Given the description of an element on the screen output the (x, y) to click on. 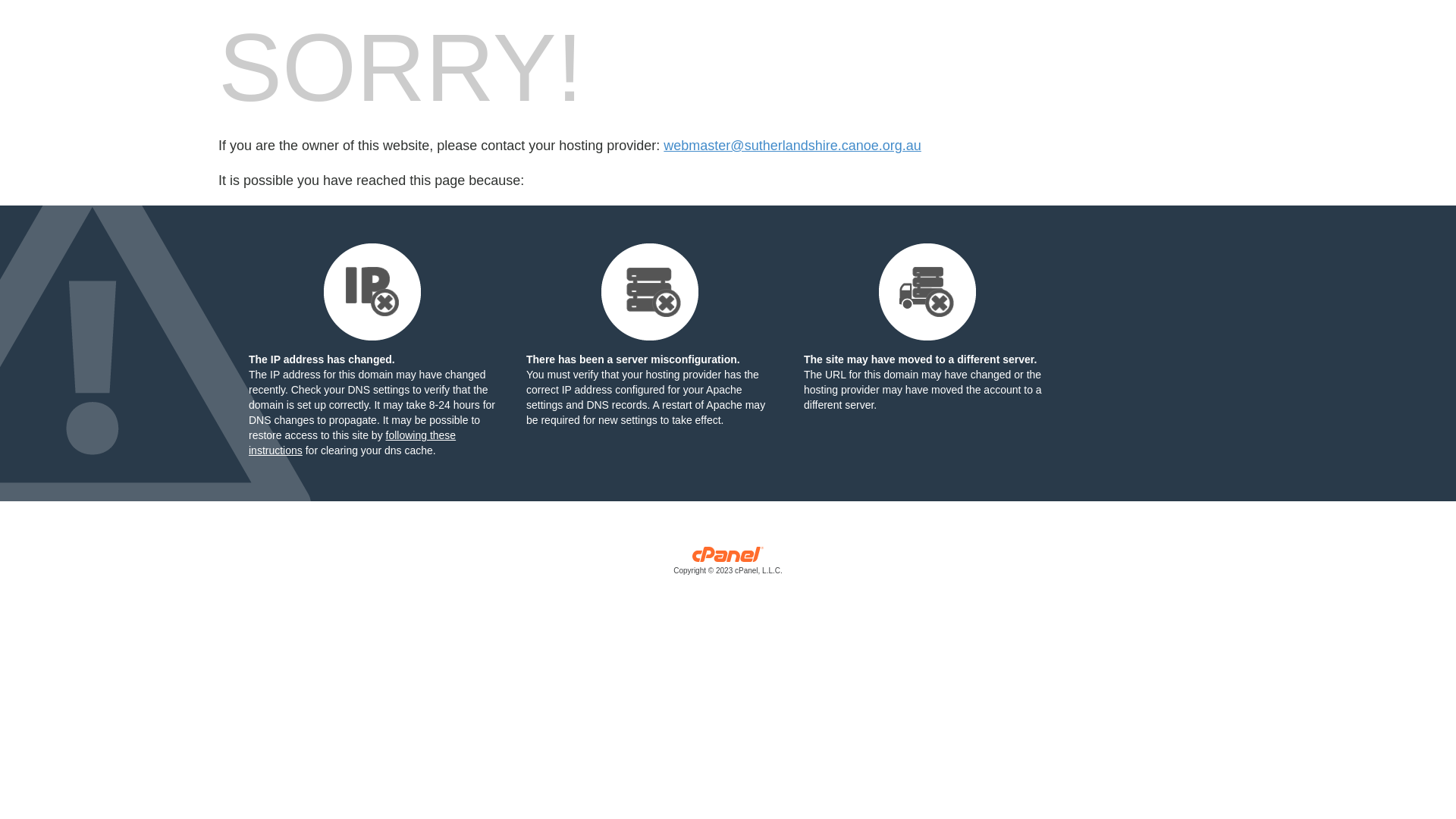
webmaster@sutherlandshire.canoe.org.au Element type: text (791, 145)
following these instructions Element type: text (351, 442)
